Given the description of an element on the screen output the (x, y) to click on. 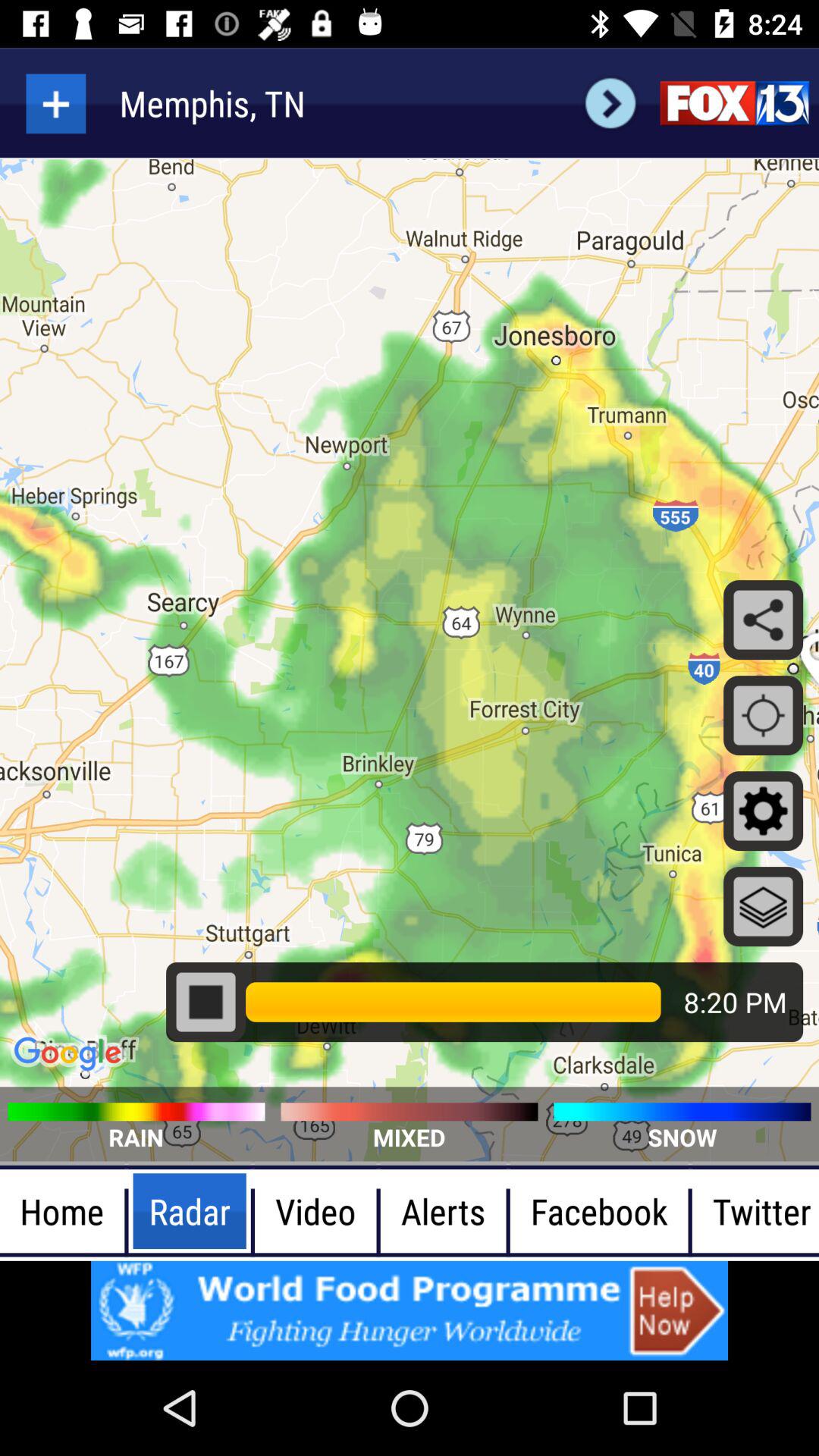
open advertisement (409, 1310)
